Given the description of an element on the screen output the (x, y) to click on. 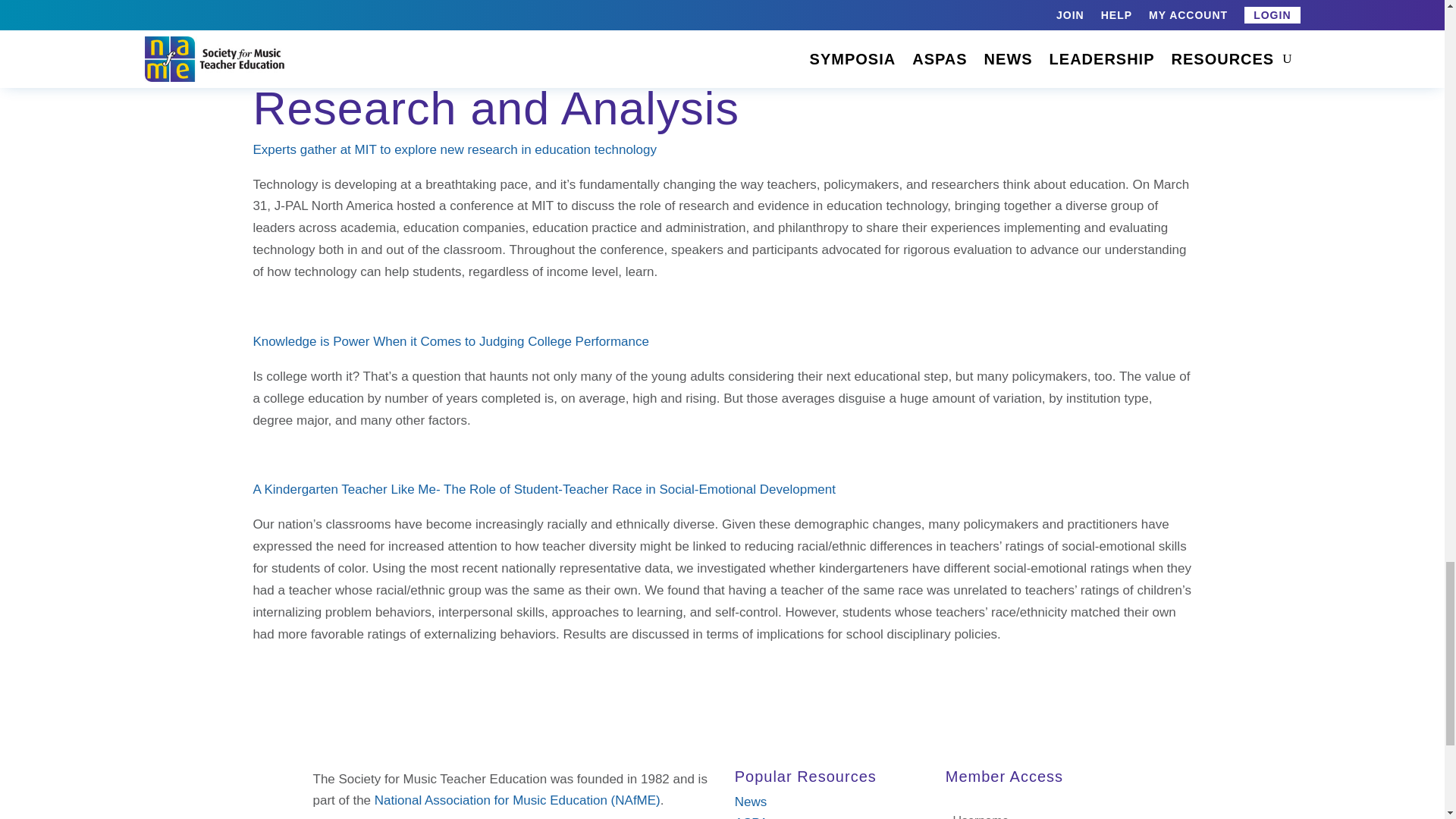
NAfME (517, 800)
News (751, 801)
SMTE ASPAs (754, 817)
SMTE News (751, 801)
Renee Foose announced her resignation (755, 5)
